Given the description of an element on the screen output the (x, y) to click on. 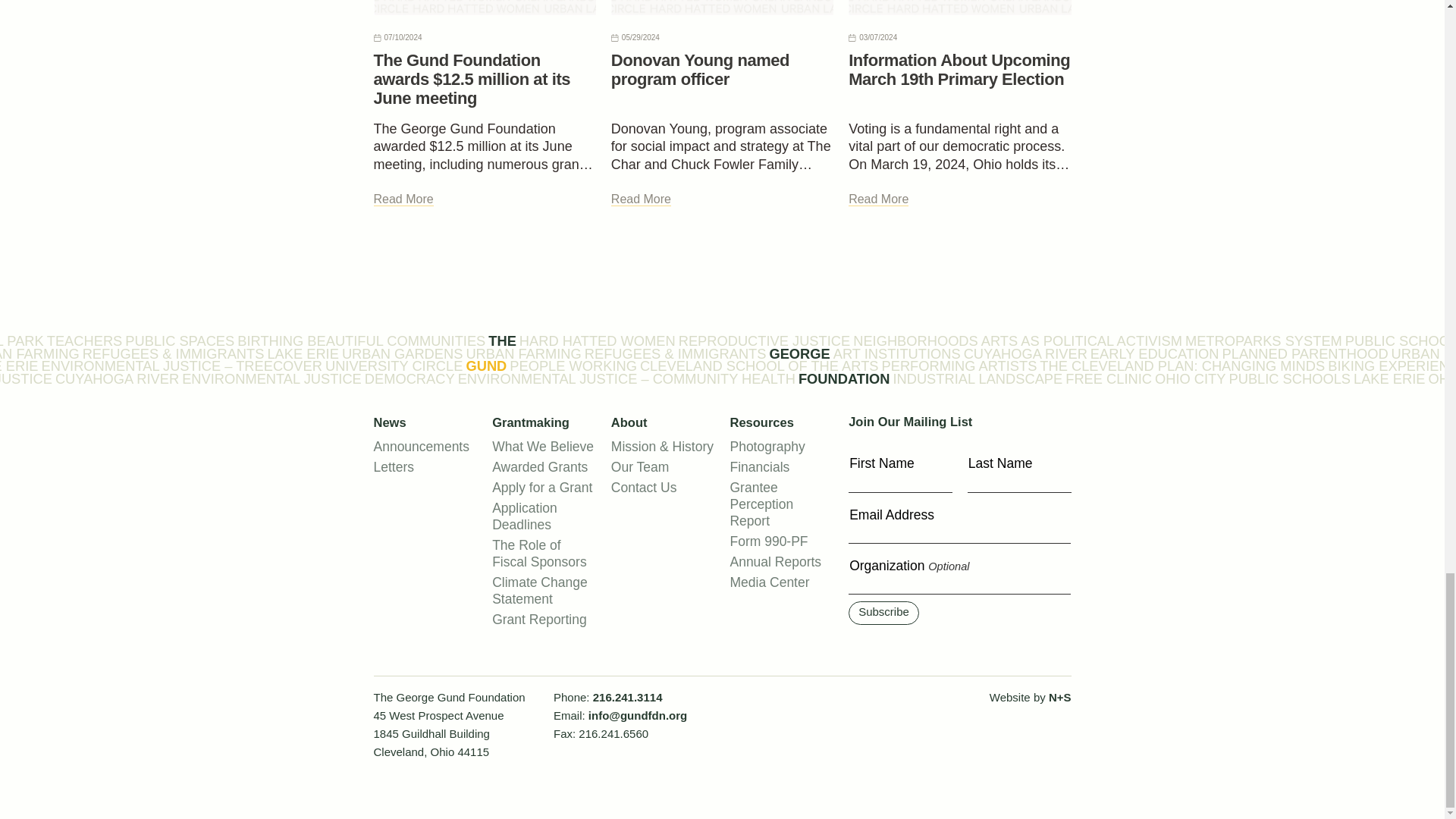
ARTS AS POLITICAL ACTIVISM (1081, 340)
REPRODUCTIVE JUSTICE (764, 340)
BIRTHING BEAUTIFUL COMMUNITIES (360, 340)
TEACHERS (84, 340)
PUBLIC SPACES (179, 340)
Read More (878, 199)
Donovan Young named program officer (700, 69)
NEIGHBORHOODS (915, 340)
Subscribe (883, 612)
HARD HATTED WOMEN (597, 340)
Information About Upcoming March 19th Primary Election (959, 69)
Read More (402, 199)
CUYAHOGA VALLEY NATIONAL PARK (21, 340)
METROPARKS SYSTEM (1263, 340)
Read More (641, 199)
